Given the description of an element on the screen output the (x, y) to click on. 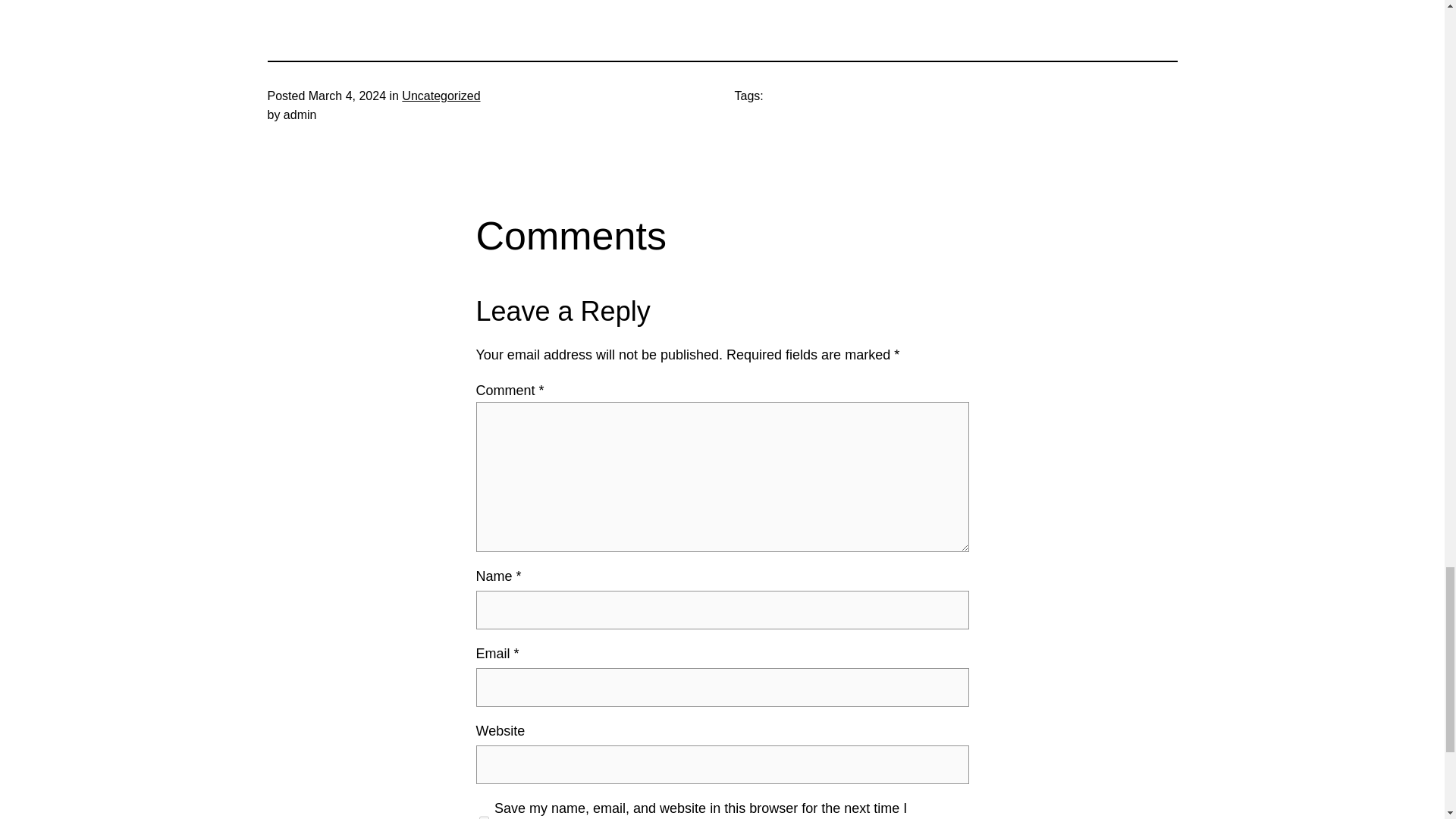
Uncategorized (440, 95)
